Given the description of an element on the screen output the (x, y) to click on. 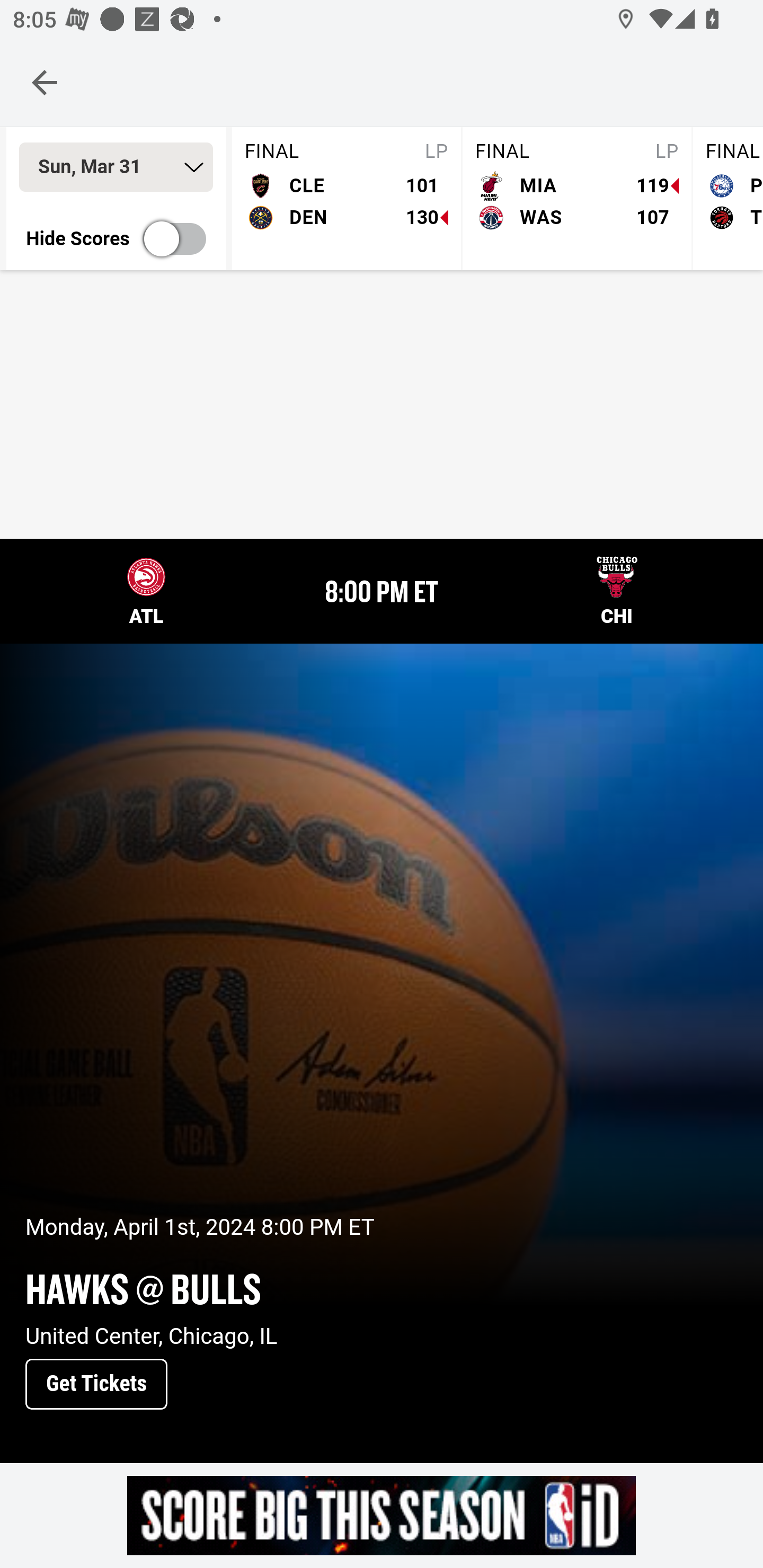
Navigate up (44, 82)
Sun, Mar 31 (115, 166)
Get Tickets (96, 1384)
g5nqqygr7owph (381, 1515)
